Given the description of an element on the screen output the (x, y) to click on. 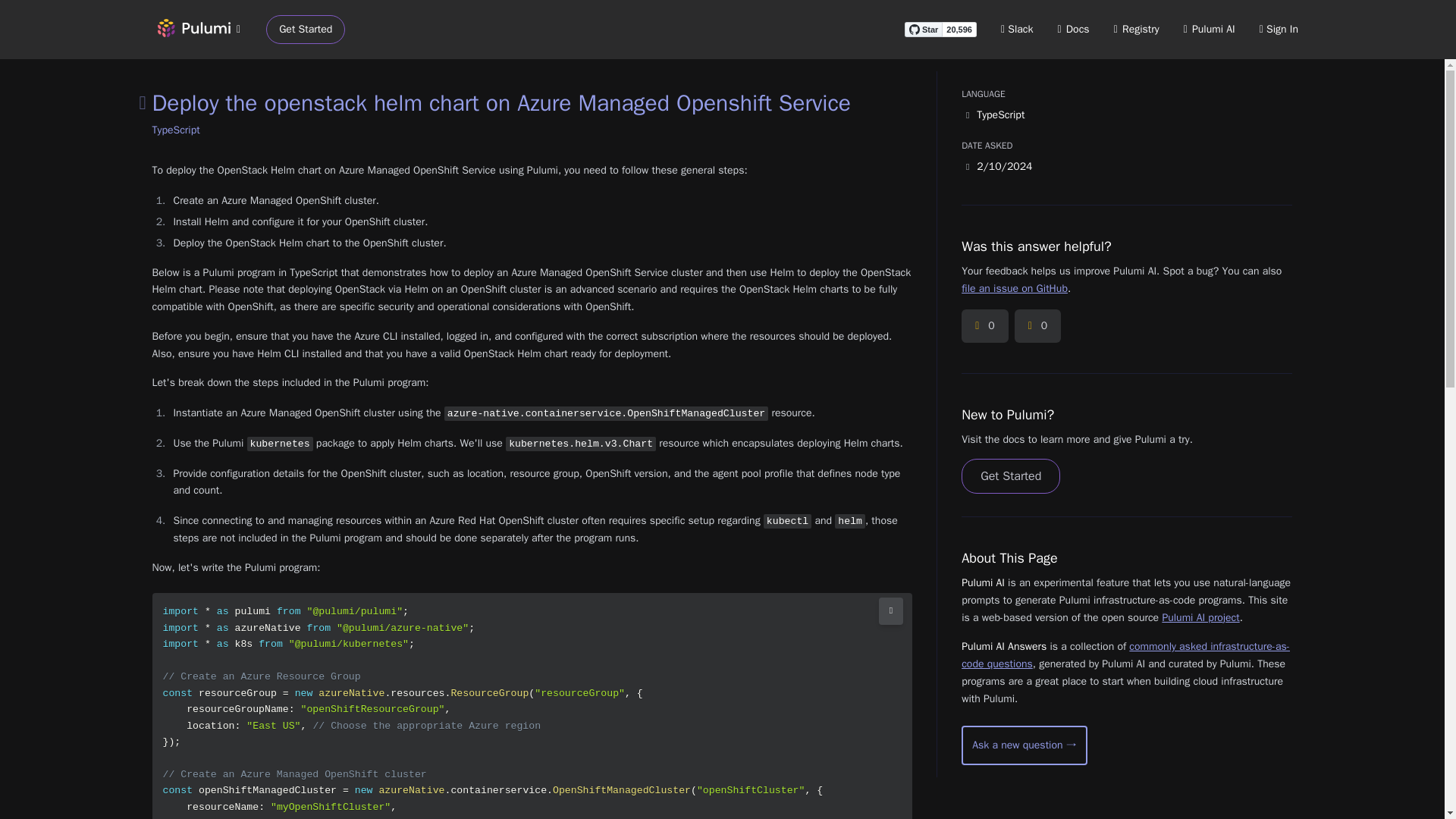
Upvote this answer (984, 326)
Start a new conversation with Pulumi AI (1023, 744)
Pulumi AI (1208, 29)
file an issue on GitHub (1013, 287)
 Star (923, 29)
Docs (1073, 29)
Sign In (1278, 29)
Get Started (305, 29)
0 (984, 326)
20,596 (959, 29)
Downvote this answer (1037, 326)
Get Started (1009, 475)
Slack (1017, 29)
0 (1037, 326)
Registry (1135, 29)
